Given the description of an element on the screen output the (x, y) to click on. 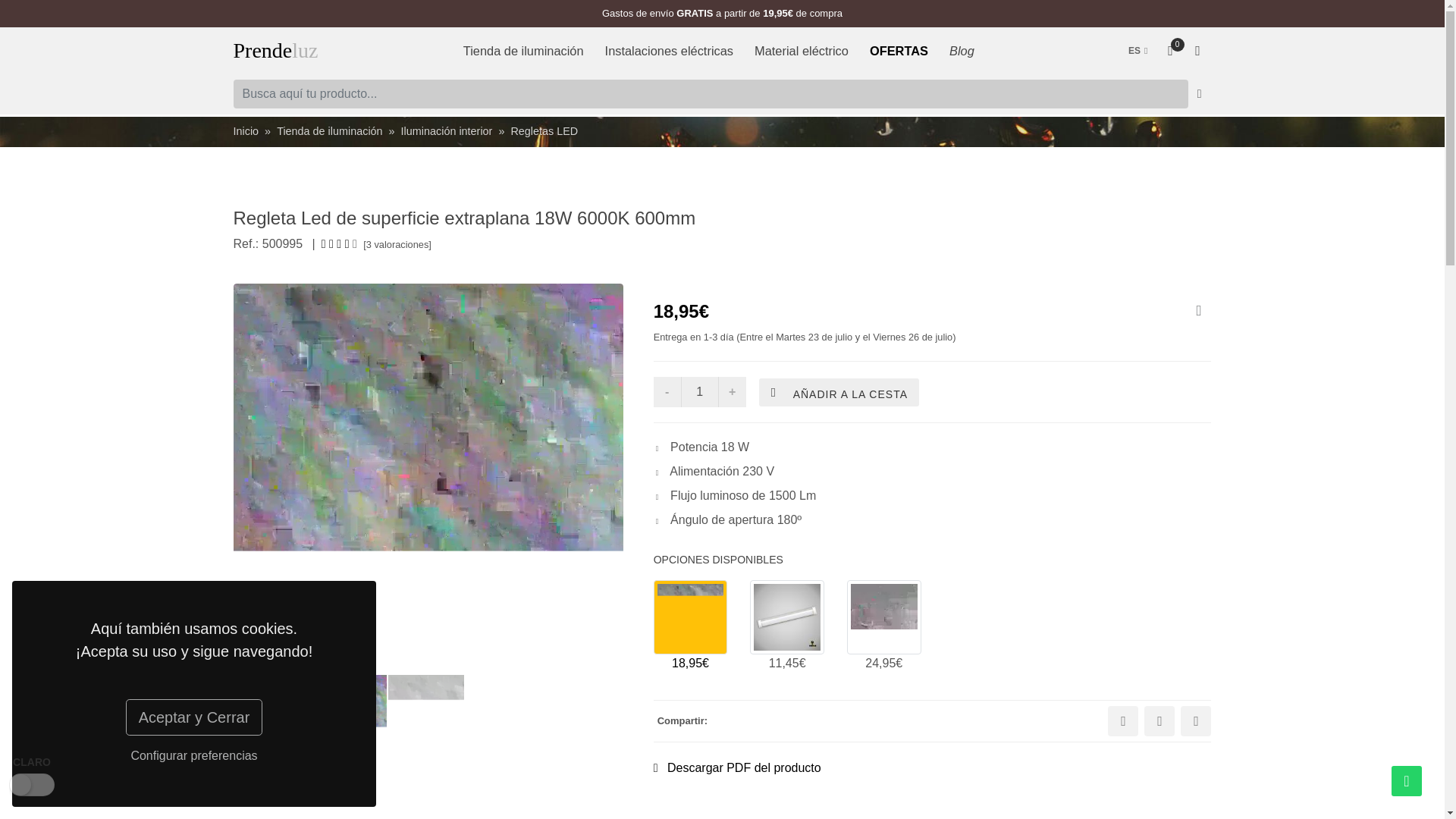
ES (1137, 49)
1 (700, 391)
Cantidad (700, 391)
- (275, 50)
0 (667, 391)
Regleta Led de superficie extraplana 20W 6500K 600mm (1170, 49)
Regleta Led de superficie extraplana 28W 4000K 900mm (786, 616)
regleta Led de superficie extraplana 18W 6000K 600mm (884, 616)
